Given the description of an element on the screen output the (x, y) to click on. 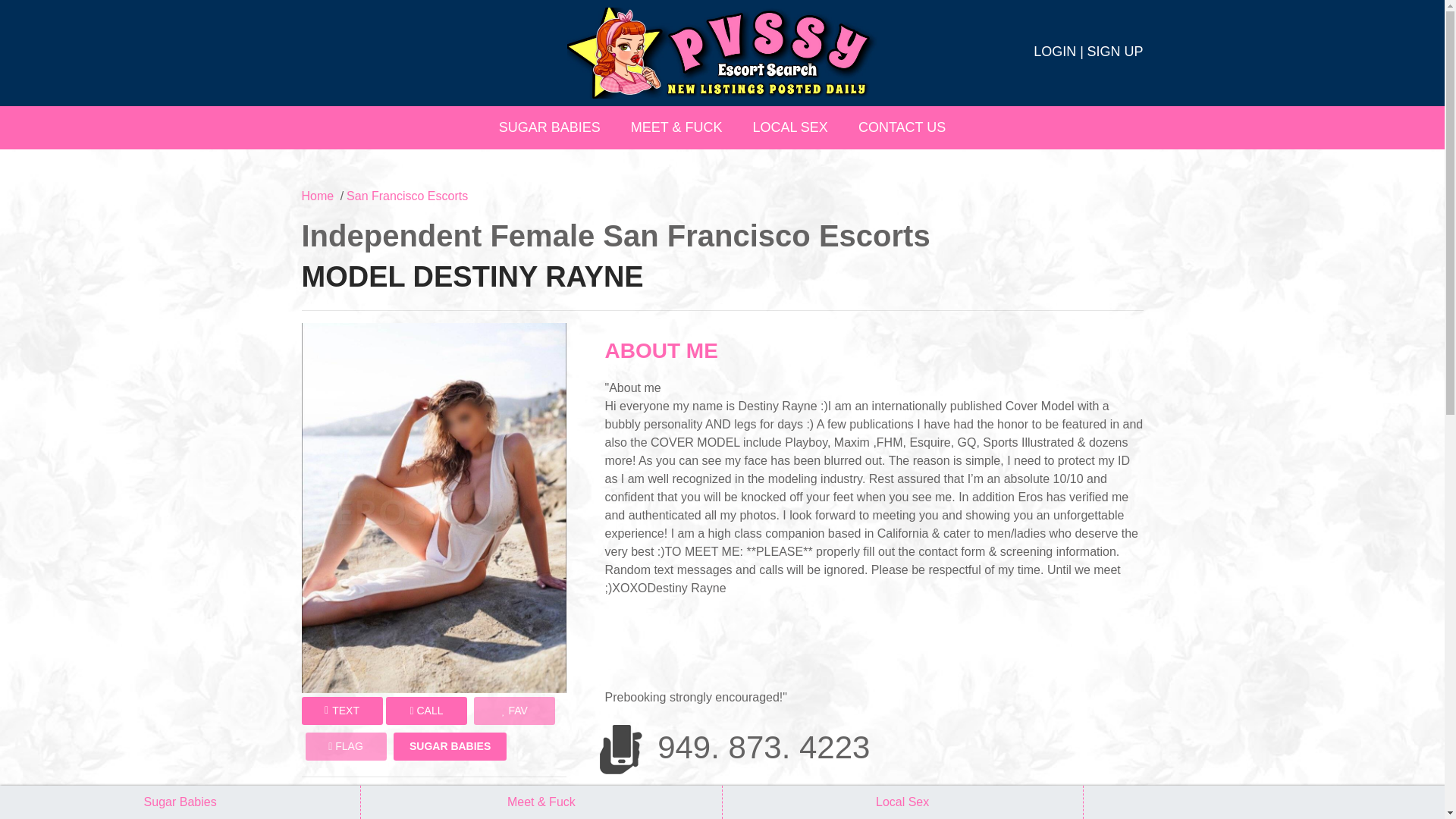
SIGN UP (1114, 51)
FLAG (344, 746)
CALL (426, 710)
SUGAR BABIES (549, 127)
Home (317, 195)
Sugar Babies (180, 802)
FAV (514, 710)
SUGAR BABIES (449, 746)
CONTACT US (901, 127)
Local Sex (902, 802)
LOCAL SEX (789, 127)
San Francisco Escorts (406, 195)
TEXT (341, 710)
Female Escorts PVSSY (722, 52)
